Given the description of an element on the screen output the (x, y) to click on. 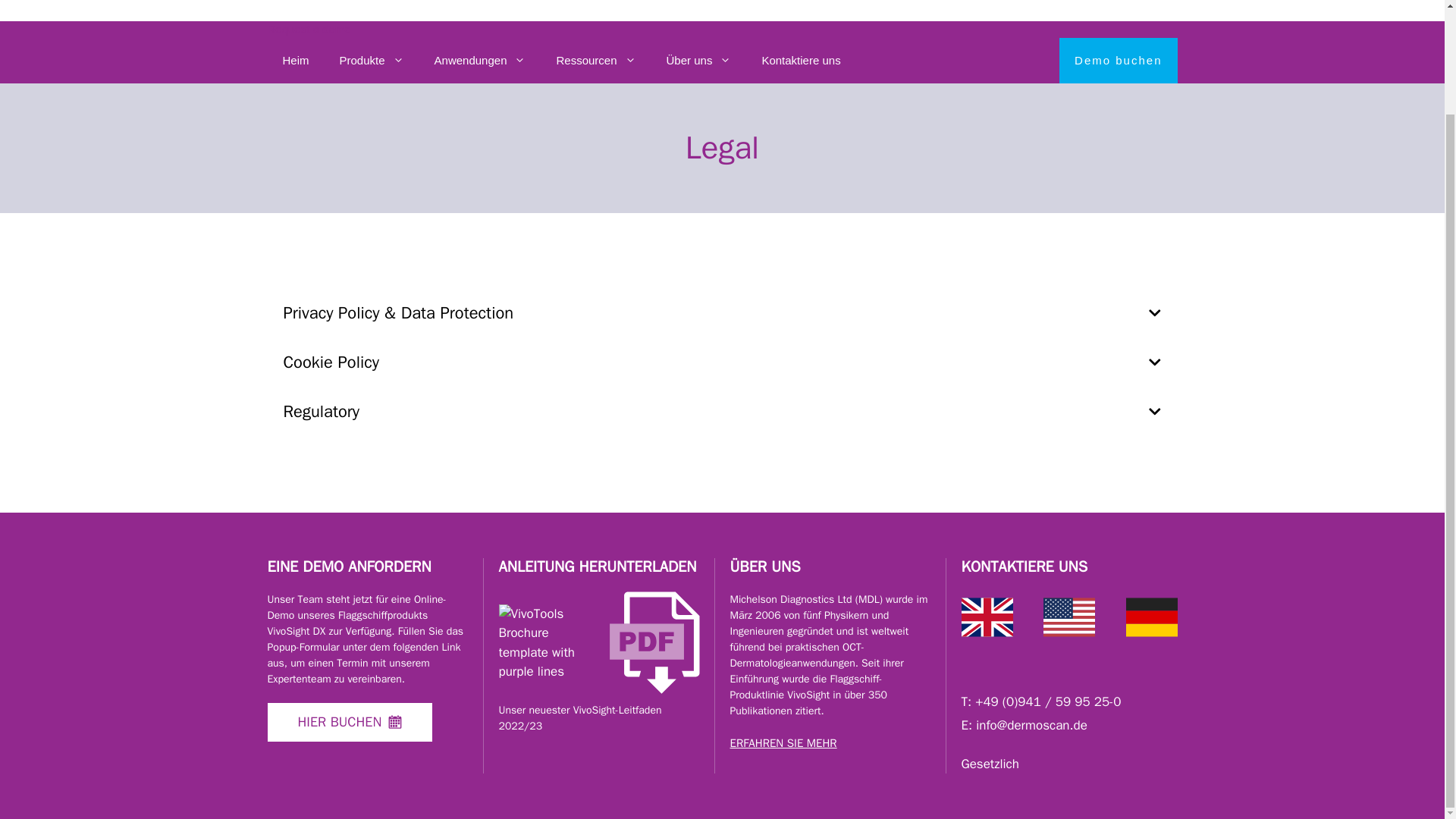
Ressourcen (595, 60)
Request a demo (308, 29)
Heim (294, 60)
Anwendungen (480, 60)
Produkte (371, 60)
Vivo-Guide (547, 642)
